Given the description of an element on the screen output the (x, y) to click on. 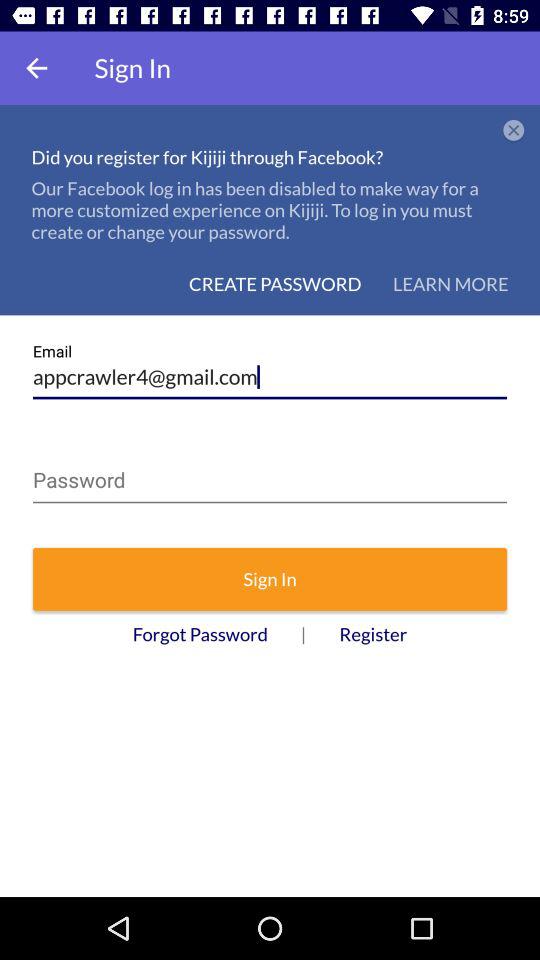
open the item above the our facebook log item (513, 131)
